Given the description of an element on the screen output the (x, y) to click on. 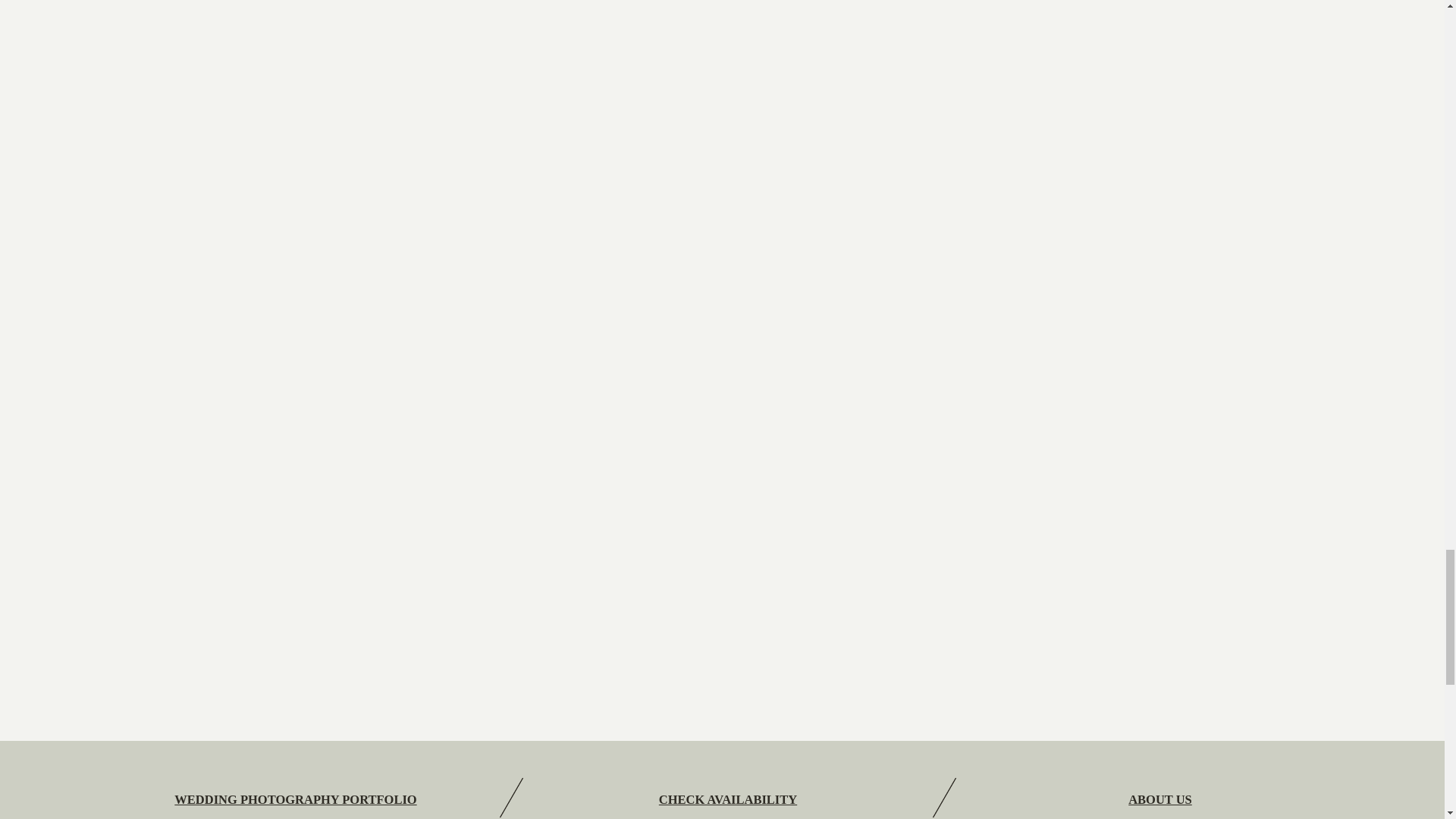
WEDDING PHOTOGRAPHY PORTFOLIO (295, 799)
CHECK AVAILABILITY (727, 799)
ABOUT US (1160, 799)
